Given the description of an element on the screen output the (x, y) to click on. 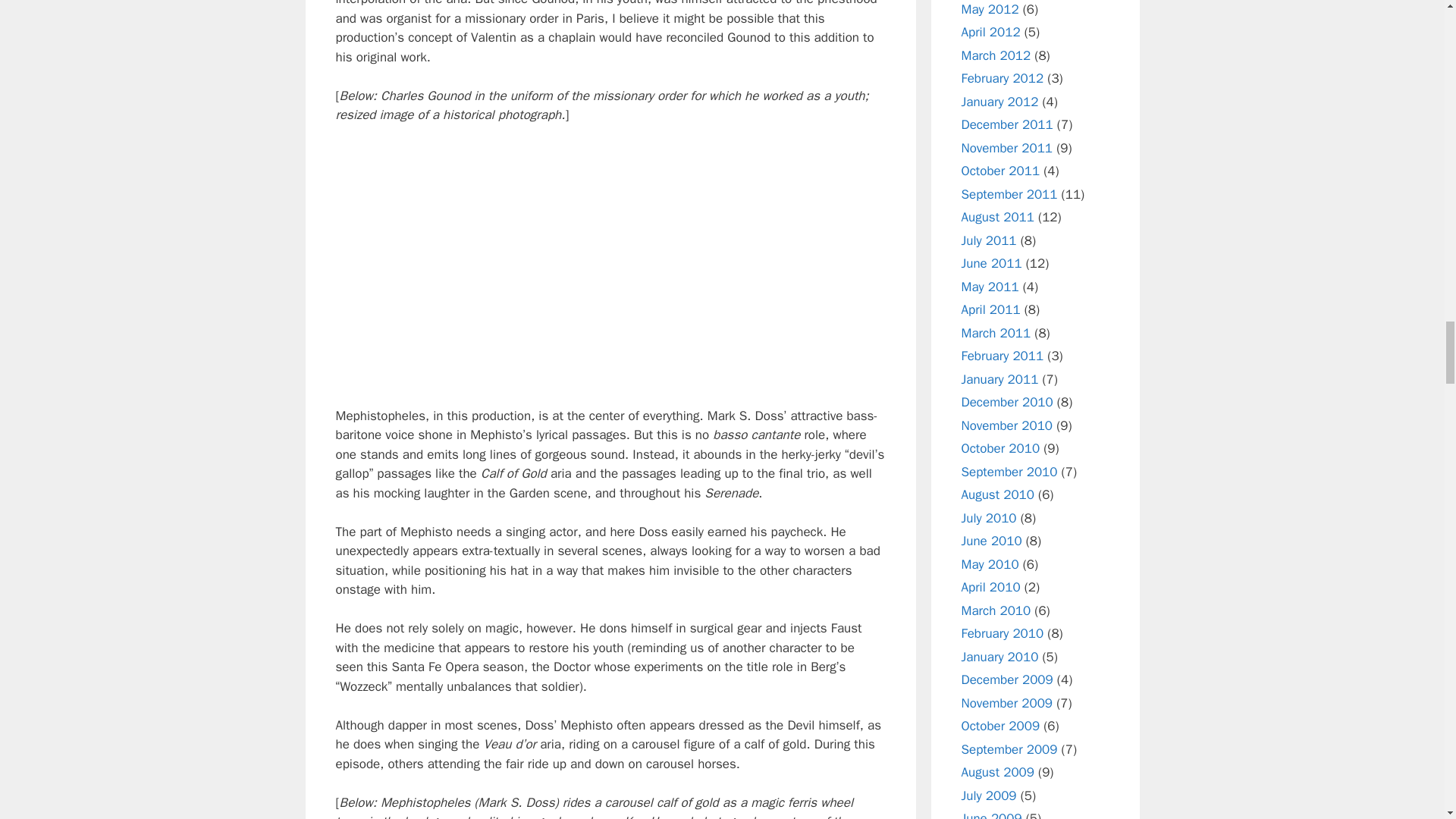
GOUNOD IN MISSIONARY DRESS (610, 265)
